Given the description of an element on the screen output the (x, y) to click on. 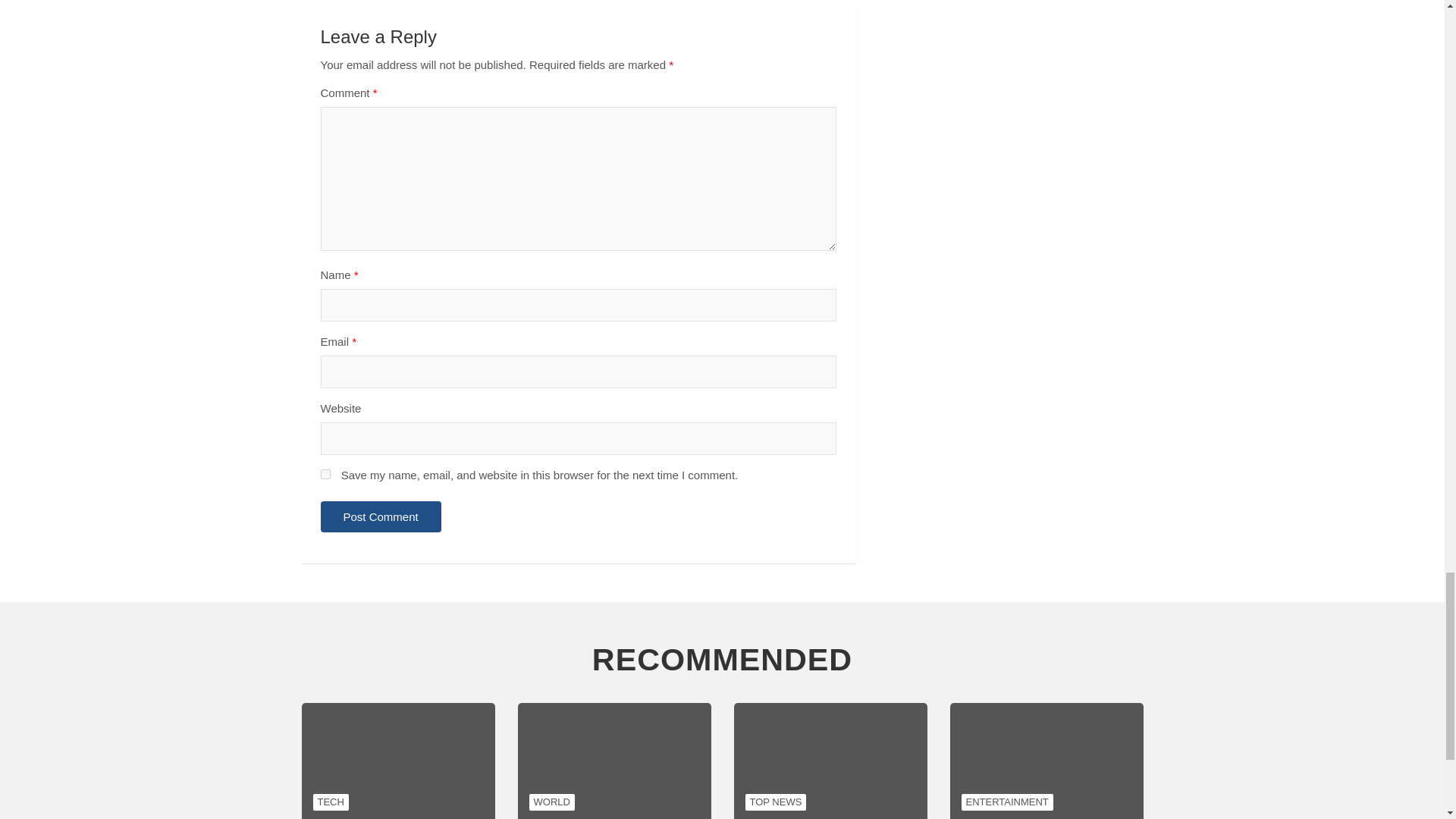
Post Comment (380, 516)
Post Comment (380, 516)
TECH (330, 801)
yes (325, 474)
